Given the description of an element on the screen output the (x, y) to click on. 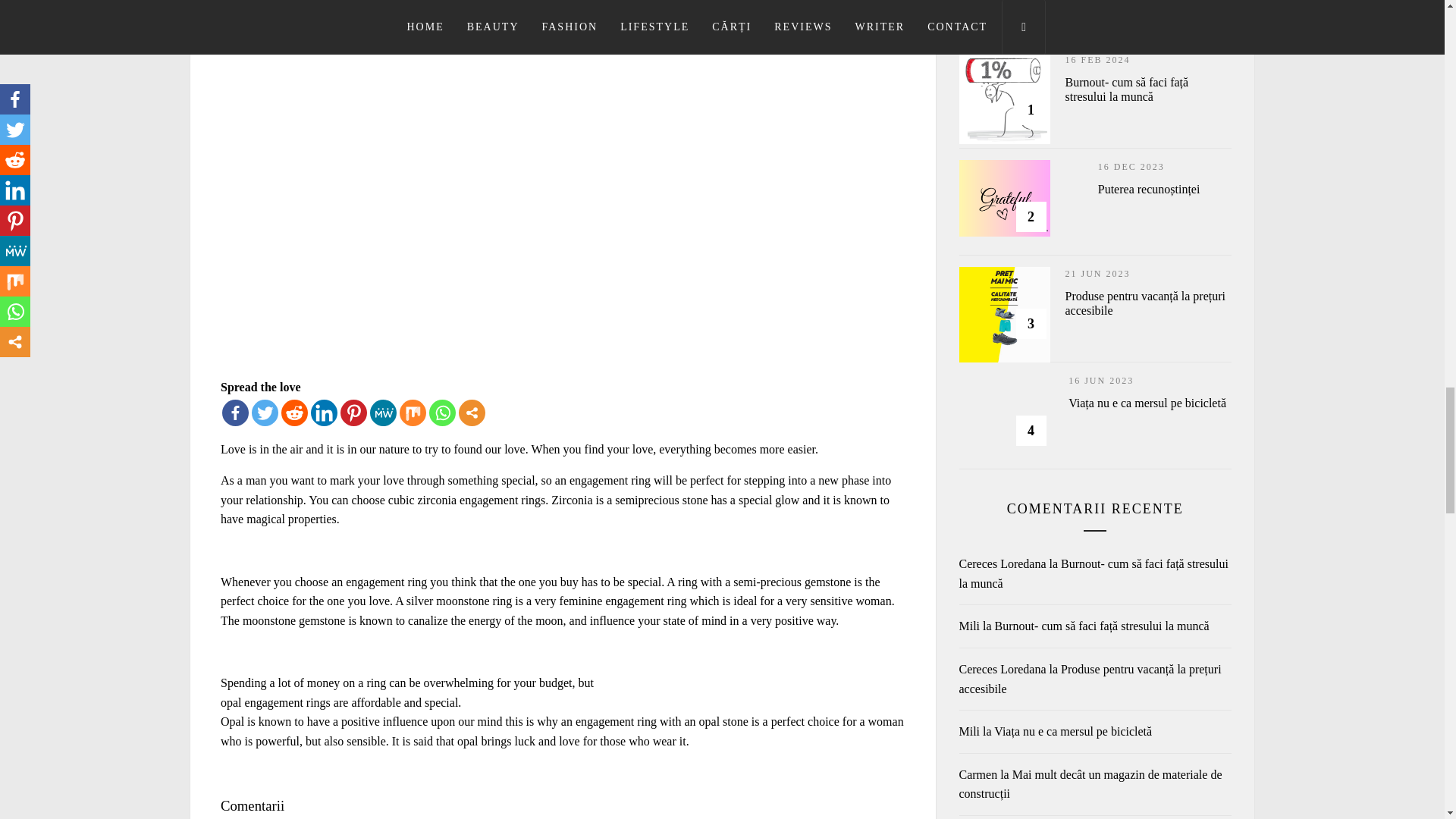
Facebook (235, 412)
Whatsapp (442, 412)
Pinterest (353, 412)
Mix (412, 412)
LinkedIn (324, 412)
Reddit (294, 412)
Twitter (264, 412)
More (471, 412)
MeWe (382, 412)
